Given the description of an element on the screen output the (x, y) to click on. 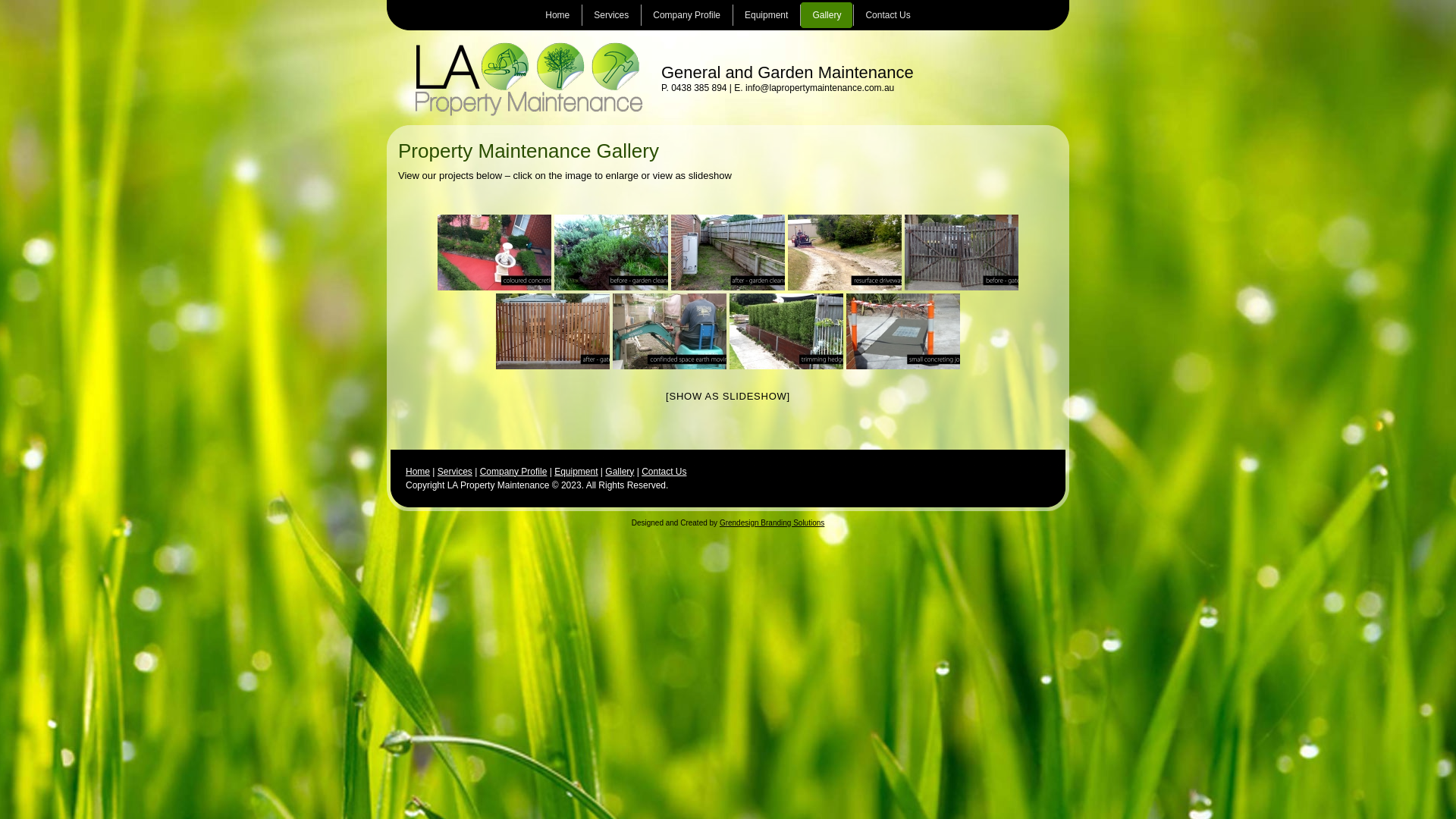
la-property-maintenance-small-section-concreating Element type: hover (903, 331)
la-property-maintenance-hedging Element type: hover (786, 331)
Equipment Element type: text (766, 15)
Services Element type: text (454, 470)
Services Element type: text (611, 15)
Contact Us Element type: text (663, 470)
Home Element type: text (417, 470)
[SHOW AS SLIDESHOW] Element type: text (727, 395)
la-property-maintenance-fix-gates Element type: hover (961, 252)
Equipment Element type: text (575, 470)
la-property-maintenance-driveways Element type: hover (844, 252)
la-property-maintenance-garden-cleanup Element type: hover (727, 252)
Gallery Element type: text (826, 15)
Company Profile Element type: text (686, 15)
Home Element type: text (556, 15)
la-property-maintenance-garden-cleanup2 Element type: hover (611, 252)
Contact Us Element type: text (887, 15)
General and Garden Maintenance Element type: text (787, 71)
la-property-maintenance-fix-gates2 Element type: hover (552, 331)
Company Profile Element type: text (513, 470)
la-property-maintenance-small-space-excavation Element type: hover (669, 331)
Gallery Element type: text (619, 470)
Grendesign Branding Solutions Element type: text (771, 522)
la-property-maintenance-coloured-concreting Element type: hover (494, 252)
